Given the description of an element on the screen output the (x, y) to click on. 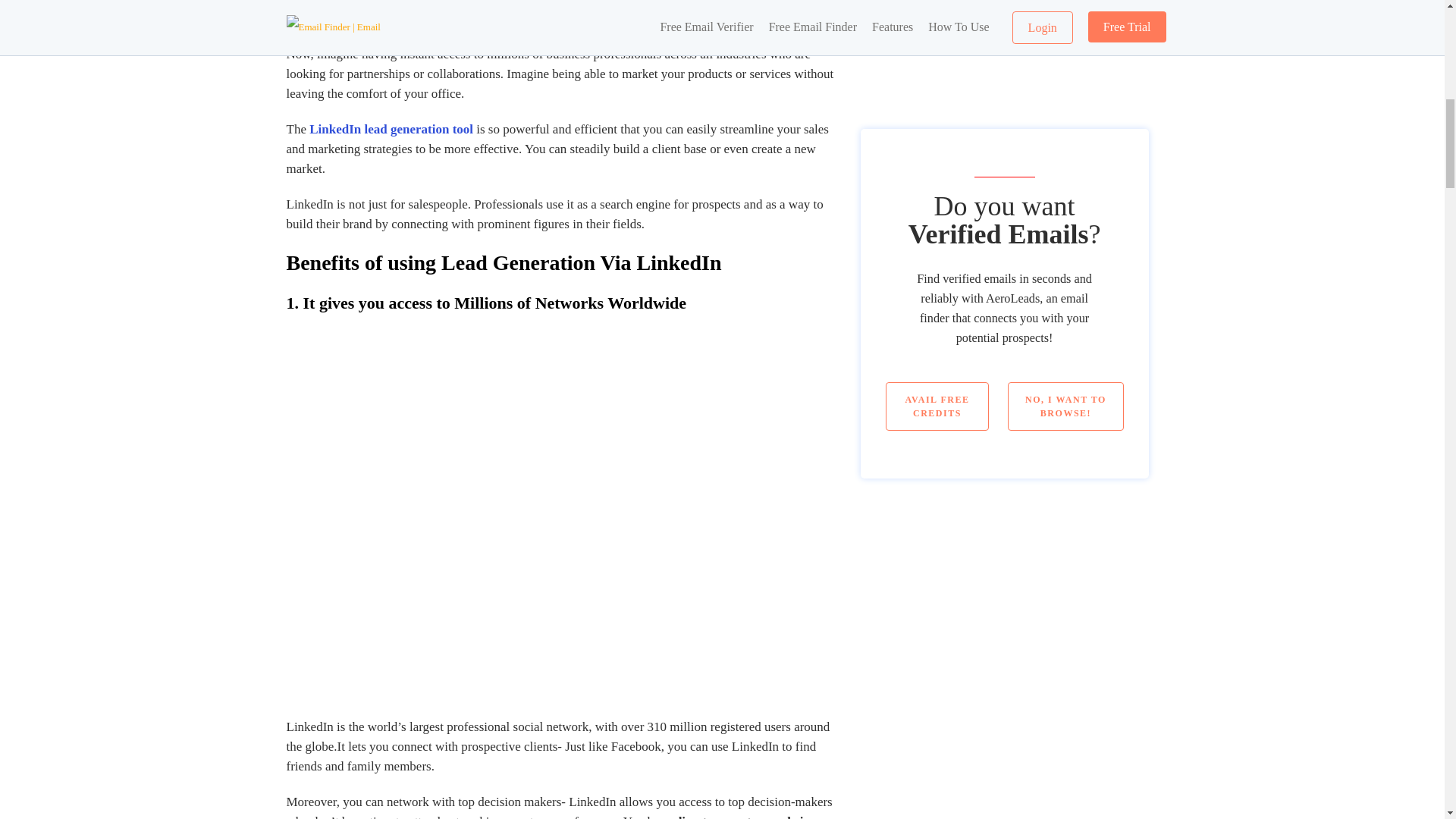
LinkedIn lead generation tool (390, 129)
